Given the description of an element on the screen output the (x, y) to click on. 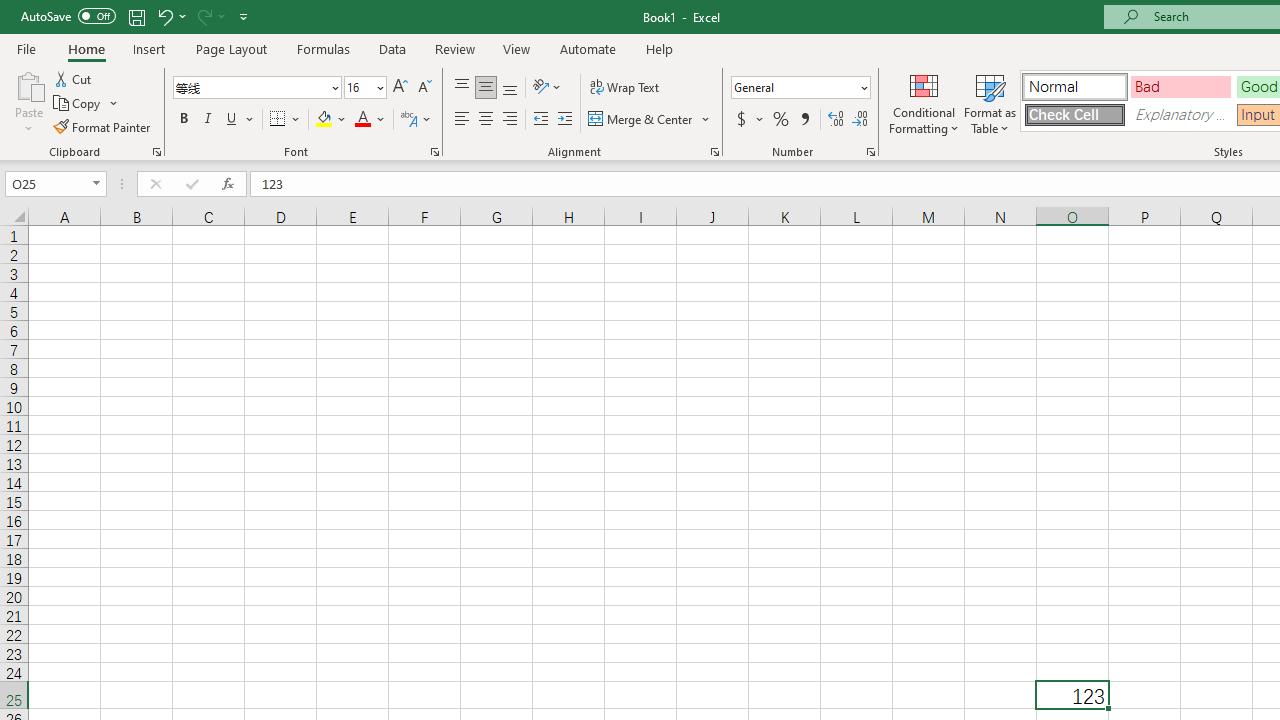
Borders (285, 119)
More Options (760, 119)
Increase Font Size (399, 87)
Fill Color RGB(255, 255, 0) (324, 119)
Align Left (461, 119)
Insert (149, 48)
Middle Align (485, 87)
Quick Access Toolbar (136, 16)
Bottom Align (509, 87)
Conditional Formatting (924, 102)
Percent Style (781, 119)
Review (454, 48)
